Given the description of an element on the screen output the (x, y) to click on. 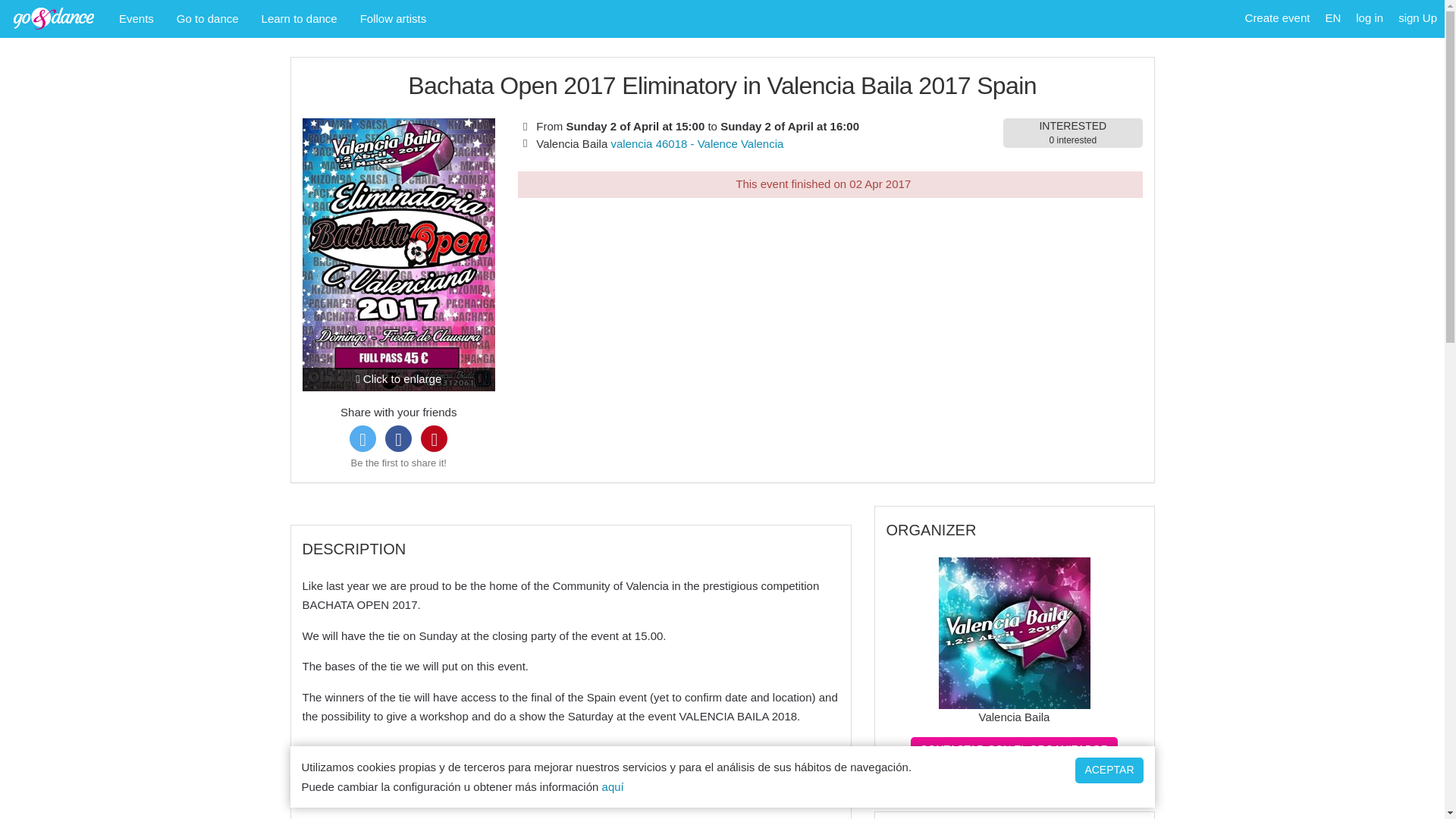
Follow artists (393, 18)
Go to dance (207, 18)
Create event (1277, 18)
Show contact data (1014, 778)
log in (1369, 18)
valencia 46018 - Valence Valencia (696, 143)
Learn to dance (299, 18)
CONTACTAR CON EL ORGANIZADOR (1072, 132)
Events (1014, 749)
